Given the description of an element on the screen output the (x, y) to click on. 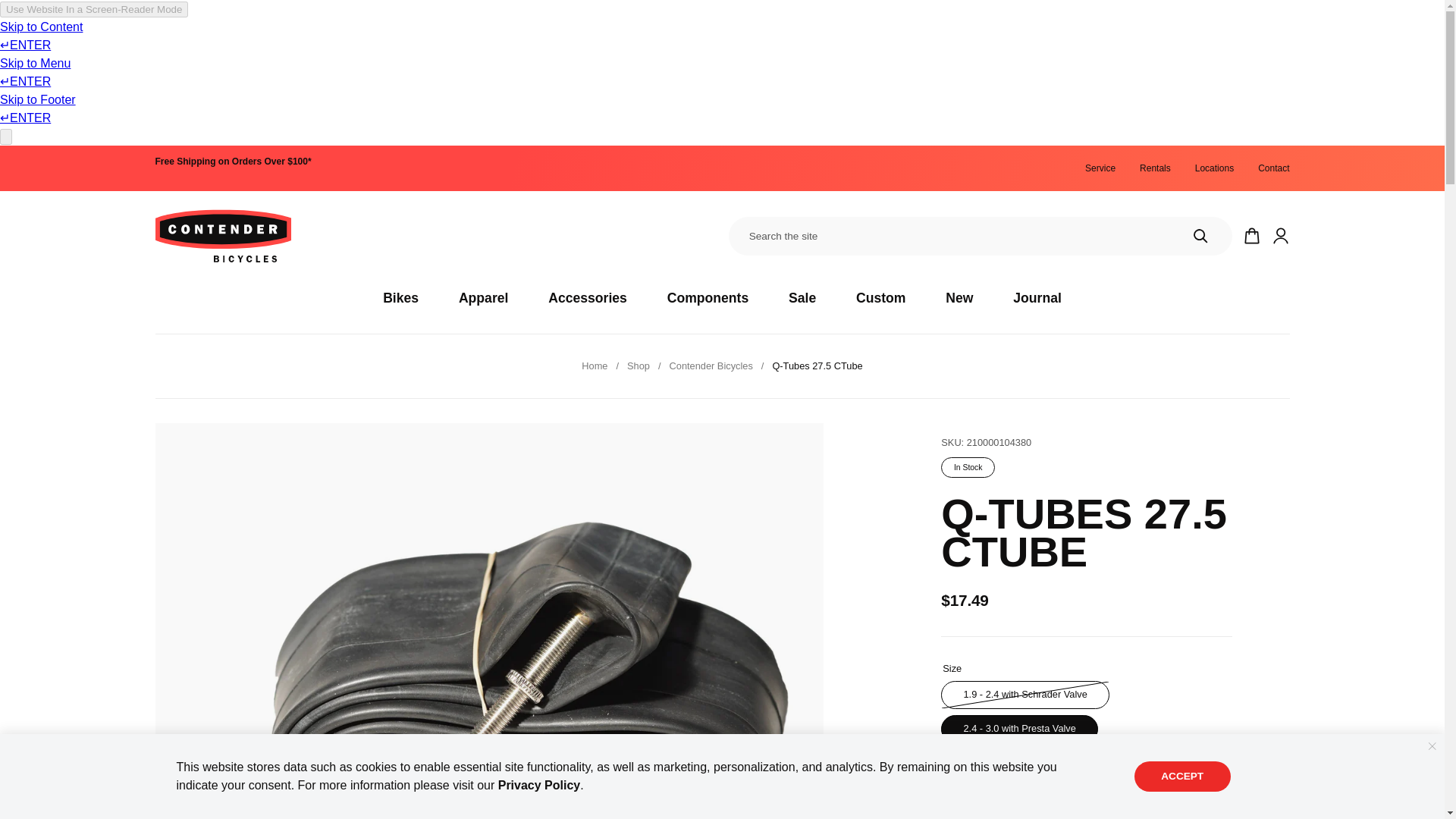
Bikes (400, 297)
SHIPPING (232, 161)
Shop (638, 365)
PRIVACY POLICY (538, 784)
SKIP TO CONTENT (31, 163)
SEARCH (1200, 236)
Rentals (1155, 167)
Service (1099, 167)
